Given the description of an element on the screen output the (x, y) to click on. 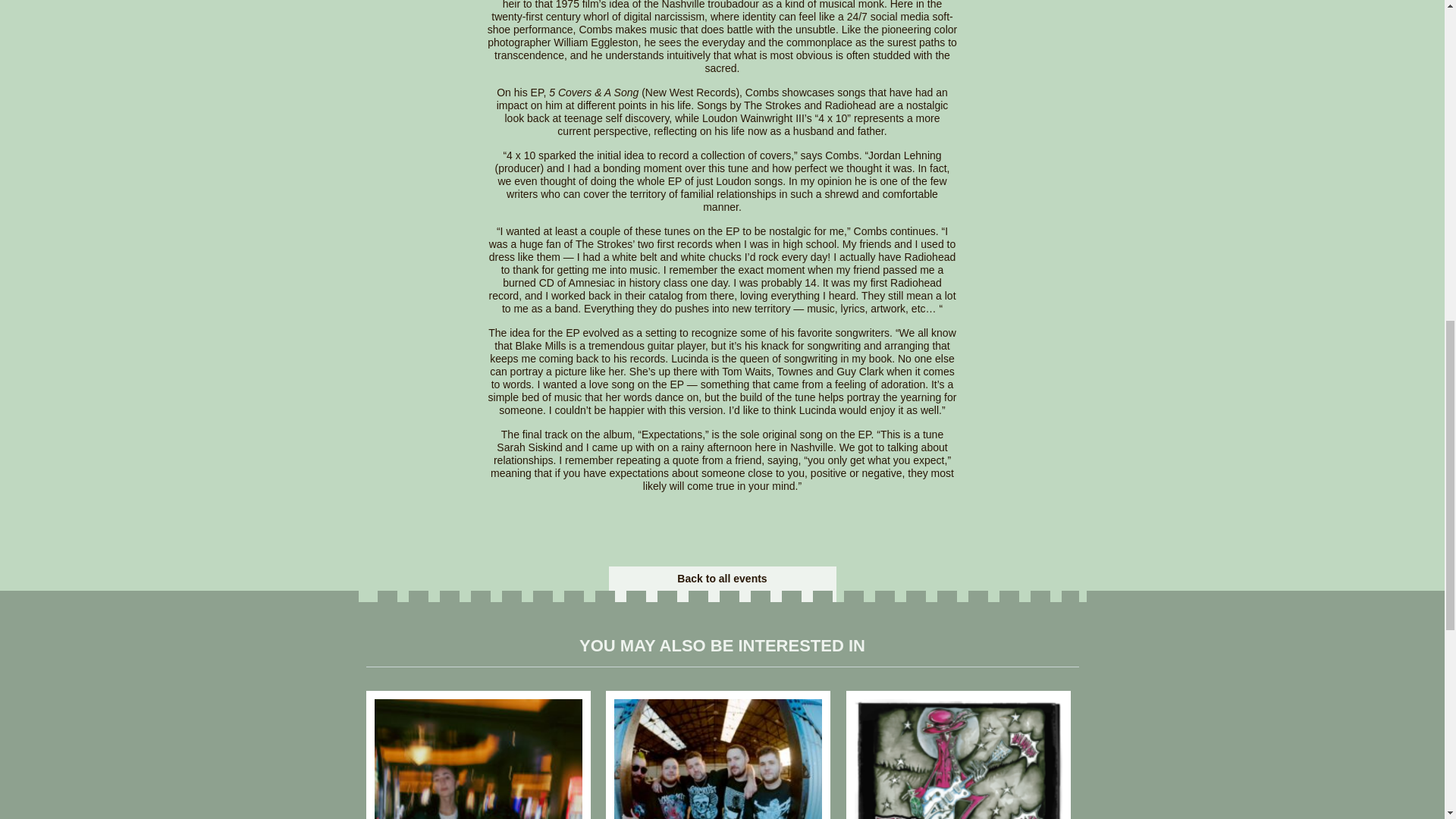
Back to all events (722, 578)
